Given the description of an element on the screen output the (x, y) to click on. 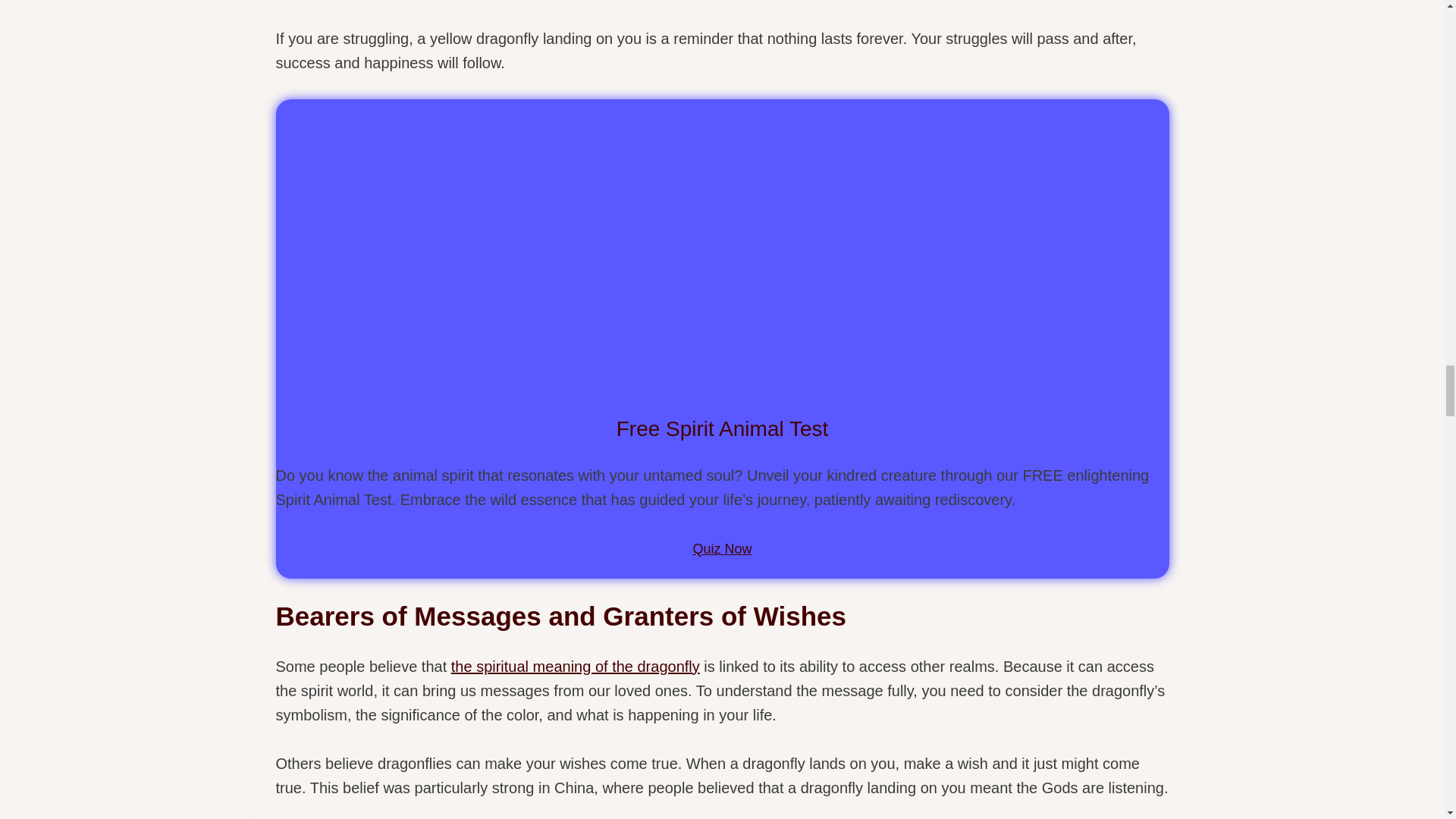
the spiritual meaning of the dragonfly (575, 666)
Quiz Now (721, 548)
